Given the description of an element on the screen output the (x, y) to click on. 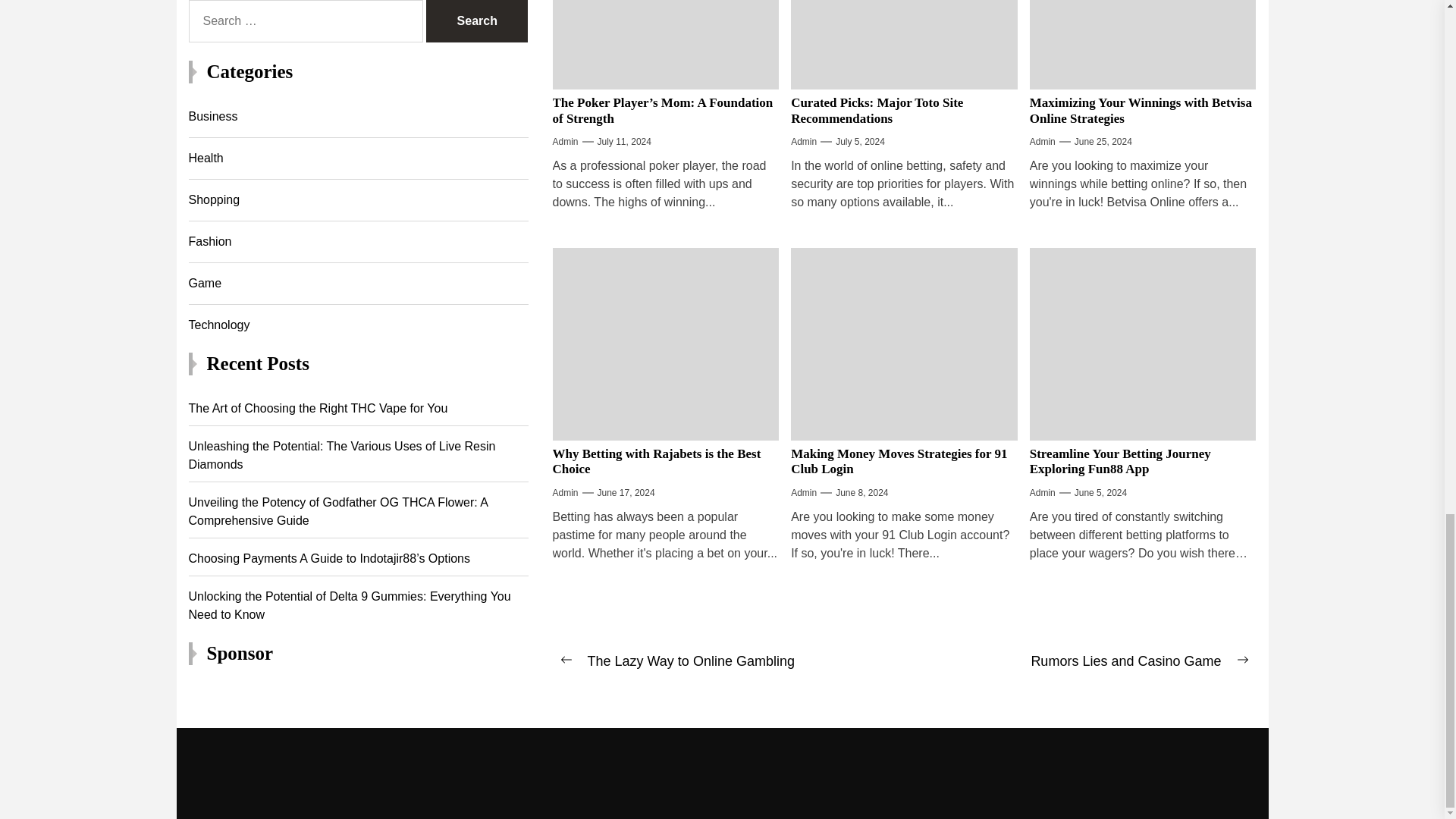
Admin (564, 141)
July 11, 2024 (623, 141)
Admin (803, 141)
Curated Picks: Major Toto Site Recommendations (876, 110)
